Given the description of an element on the screen output the (x, y) to click on. 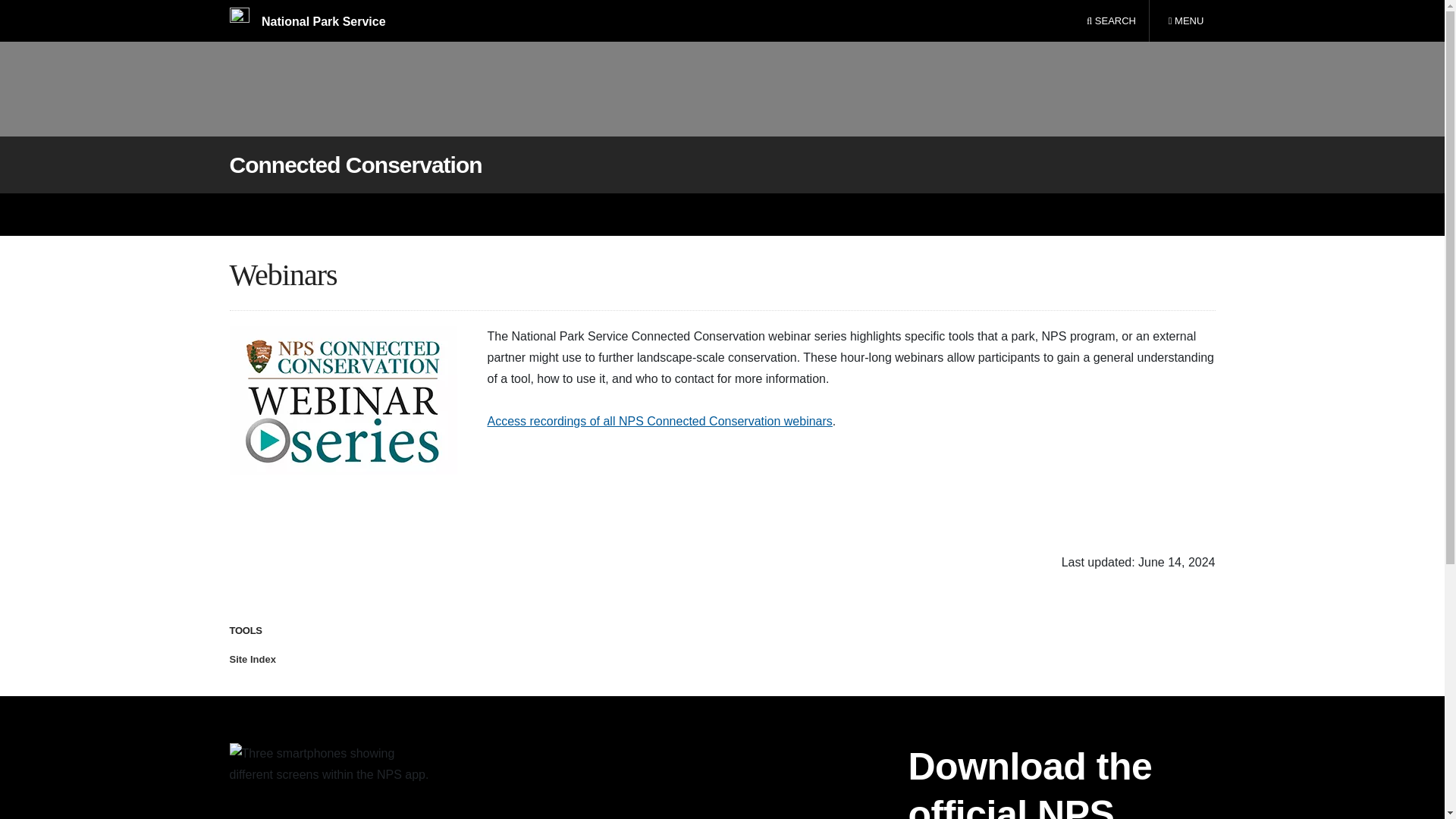
Access recordings of all NPS Connected Conservation webinars (658, 420)
Connected Conservation Webinar Series (342, 400)
Connected Conservation (354, 164)
National Park Service (307, 20)
Site Index (251, 659)
SEARCH (1185, 20)
